Given the description of an element on the screen output the (x, y) to click on. 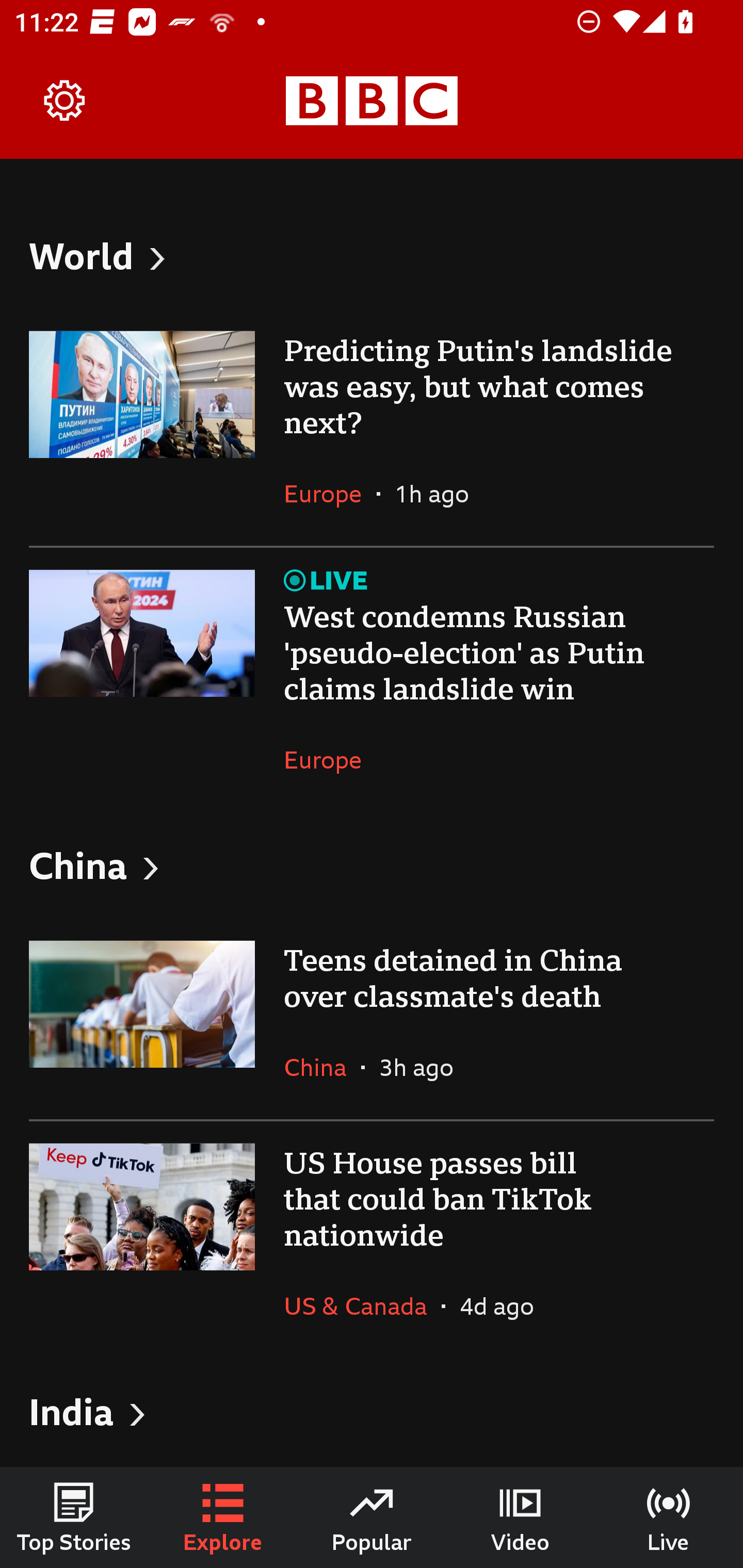
Settings (64, 100)
World, Heading World    (371, 255)
Europe In the section Europe (329, 493)
Europe In the section Europe (329, 759)
China, Heading China    (371, 865)
China In the section China (322, 1066)
US & Canada In the section US & Canada (362, 1305)
India, Heading India    (371, 1410)
Top Stories (74, 1517)
Popular (371, 1517)
Video (519, 1517)
Live (668, 1517)
